Given the description of an element on the screen output the (x, y) to click on. 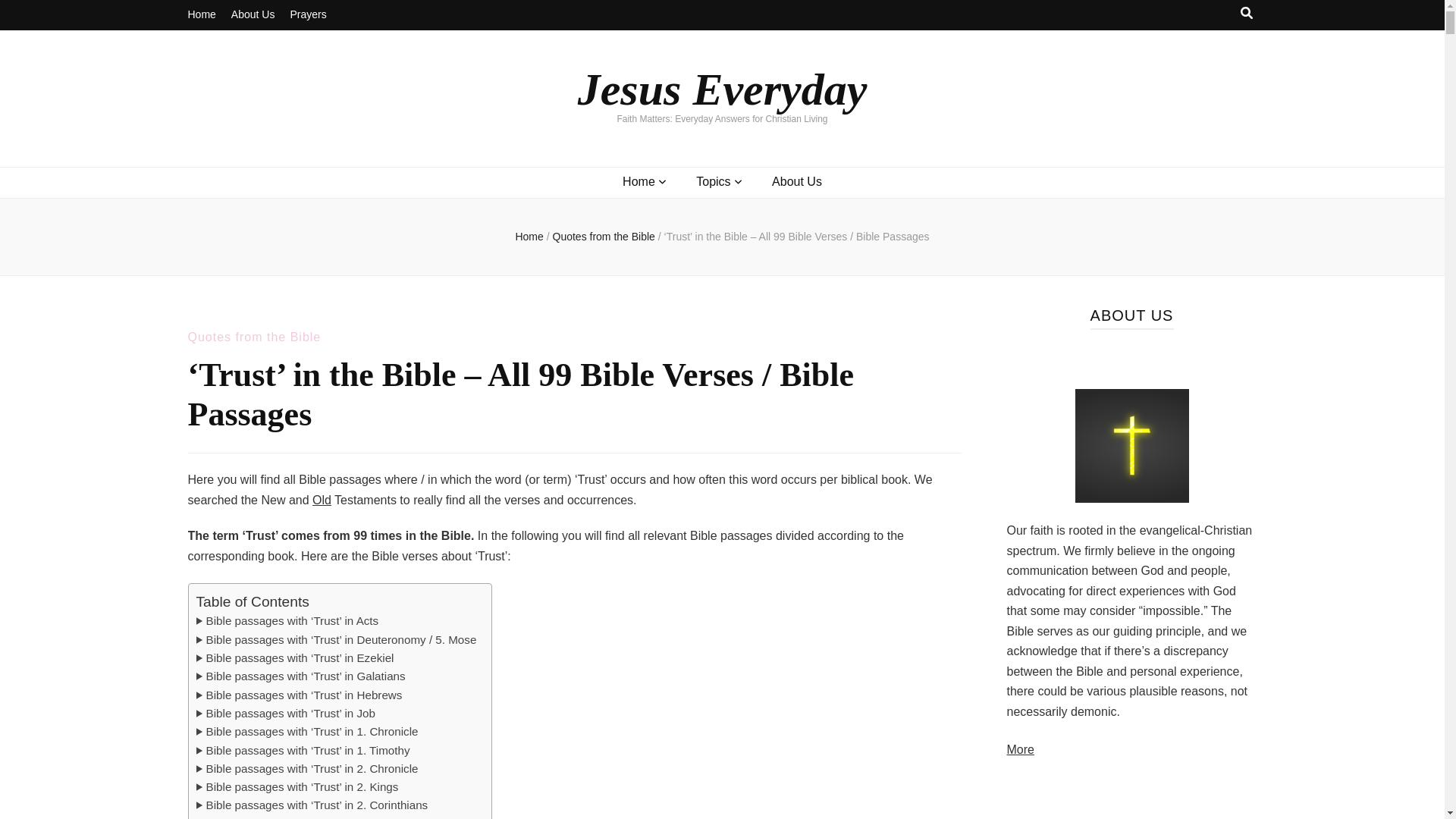
Prayers (307, 15)
Home (201, 15)
Home (529, 236)
About Us (796, 181)
Jesus Everyday (722, 89)
Topics (712, 181)
Quotes from the Bible (254, 336)
Quotes from the Bible (604, 236)
Home (639, 181)
Old (322, 499)
About Us (253, 15)
